Given the description of an element on the screen output the (x, y) to click on. 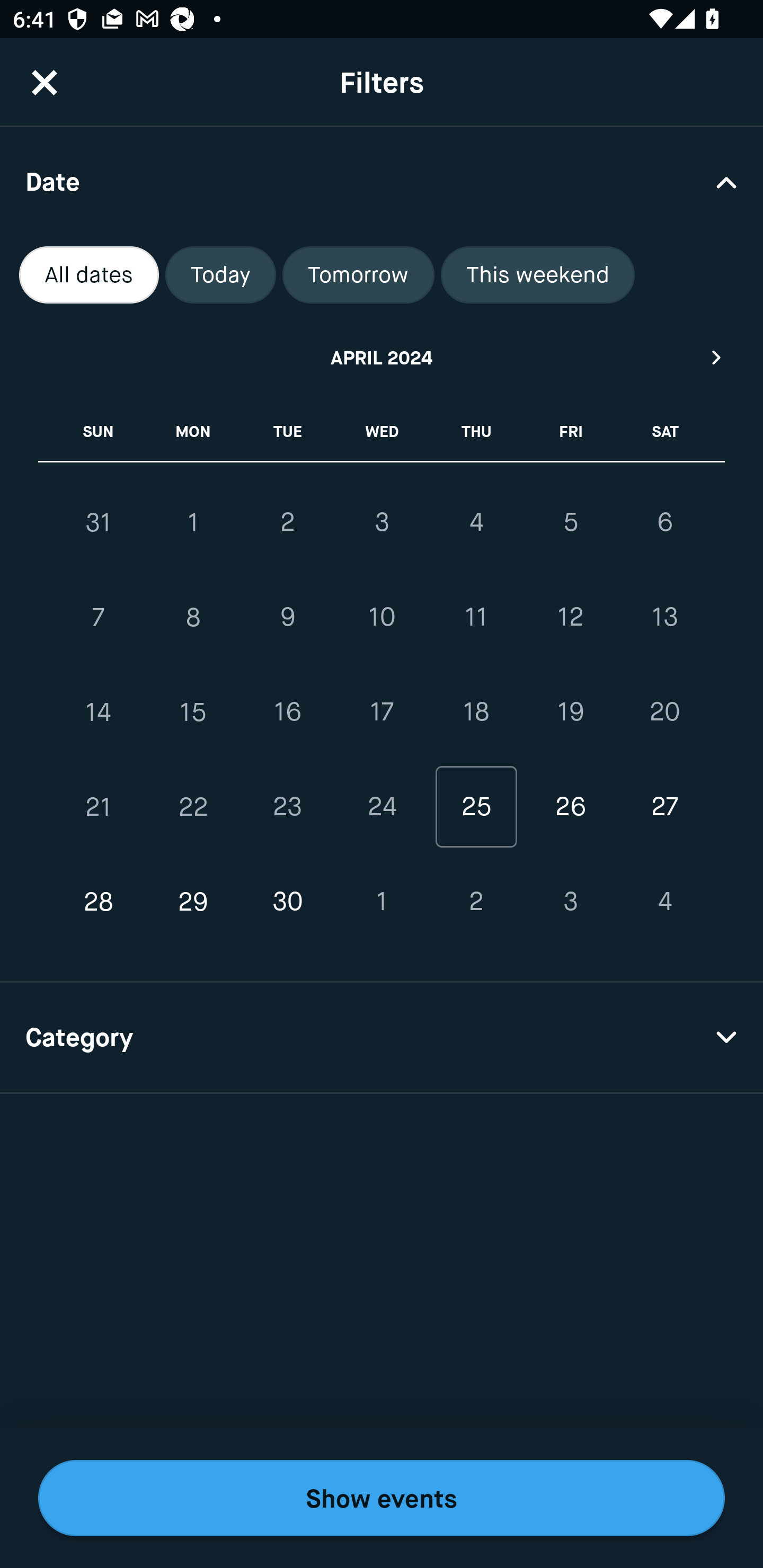
CloseButton (44, 82)
Date Drop Down Arrow (381, 181)
All dates (88, 274)
Today (220, 274)
Tomorrow (358, 274)
This weekend (537, 274)
Next (717, 357)
31 (98, 522)
1 (192, 522)
2 (287, 522)
3 (381, 522)
4 (475, 522)
5 (570, 522)
6 (664, 522)
7 (98, 617)
8 (192, 617)
9 (287, 617)
10 (381, 617)
11 (475, 617)
12 (570, 617)
13 (664, 617)
14 (98, 711)
15 (192, 711)
16 (287, 711)
17 (381, 711)
18 (475, 711)
19 (570, 711)
20 (664, 711)
21 (98, 806)
22 (192, 806)
23 (287, 806)
24 (381, 806)
25 (475, 806)
26 (570, 806)
27 (664, 806)
28 (98, 901)
29 (192, 901)
30 (287, 901)
1 (381, 901)
2 (475, 901)
3 (570, 901)
4 (664, 901)
Category Drop Down Arrow (381, 1038)
Show events (381, 1497)
